Given the description of an element on the screen output the (x, y) to click on. 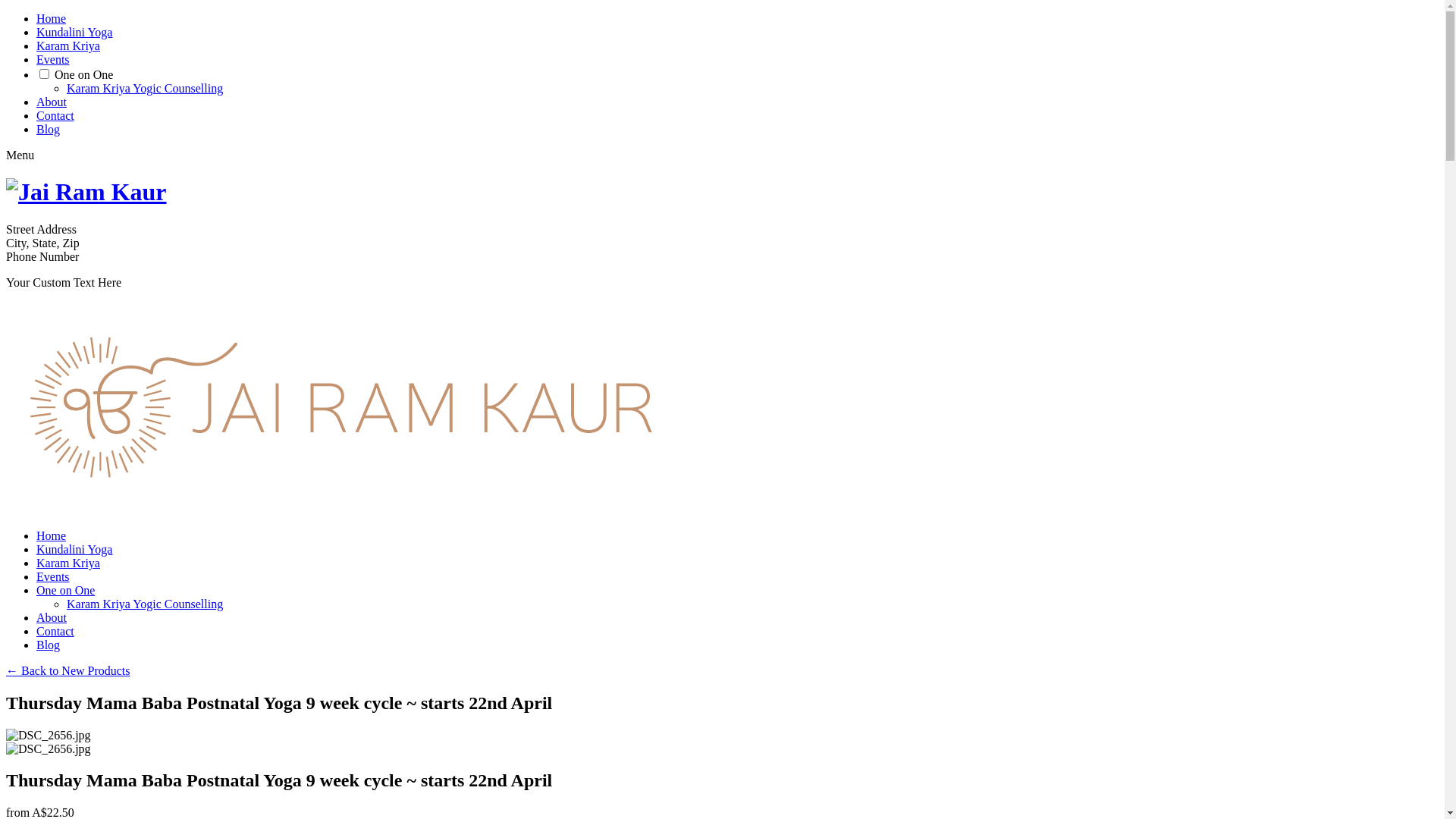
Contact Element type: text (55, 115)
Events Element type: text (52, 576)
Home Element type: text (50, 18)
Karam Kriya Yogic Counselling Element type: text (144, 87)
About Element type: text (51, 617)
One on One Element type: text (83, 74)
Blog Element type: text (47, 128)
Blog Element type: text (47, 644)
Karam Kriya Element type: text (68, 562)
About Element type: text (51, 101)
Menu Element type: text (20, 154)
Events Element type: text (52, 59)
Karam Kriya Yogic Counselling Element type: text (144, 603)
Contact Element type: text (55, 630)
Kundalini Yoga Element type: text (74, 31)
Kundalini Yoga Element type: text (74, 548)
Karam Kriya Element type: text (68, 45)
One on One Element type: text (65, 589)
Home Element type: text (50, 535)
